Given the description of an element on the screen output the (x, y) to click on. 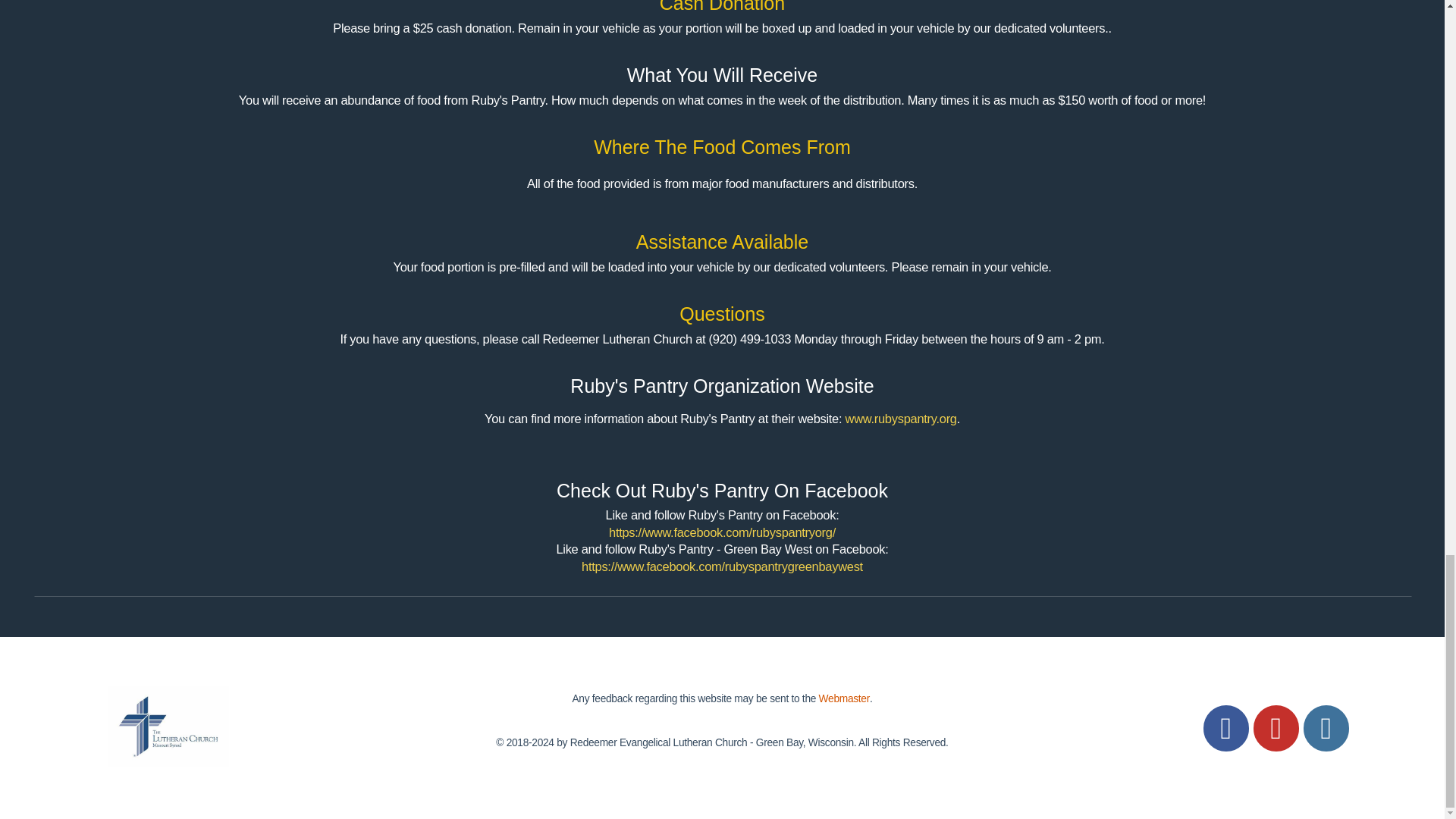
www.rubyspantry.org (900, 418)
Webmaster (843, 694)
